Given the description of an element on the screen output the (x, y) to click on. 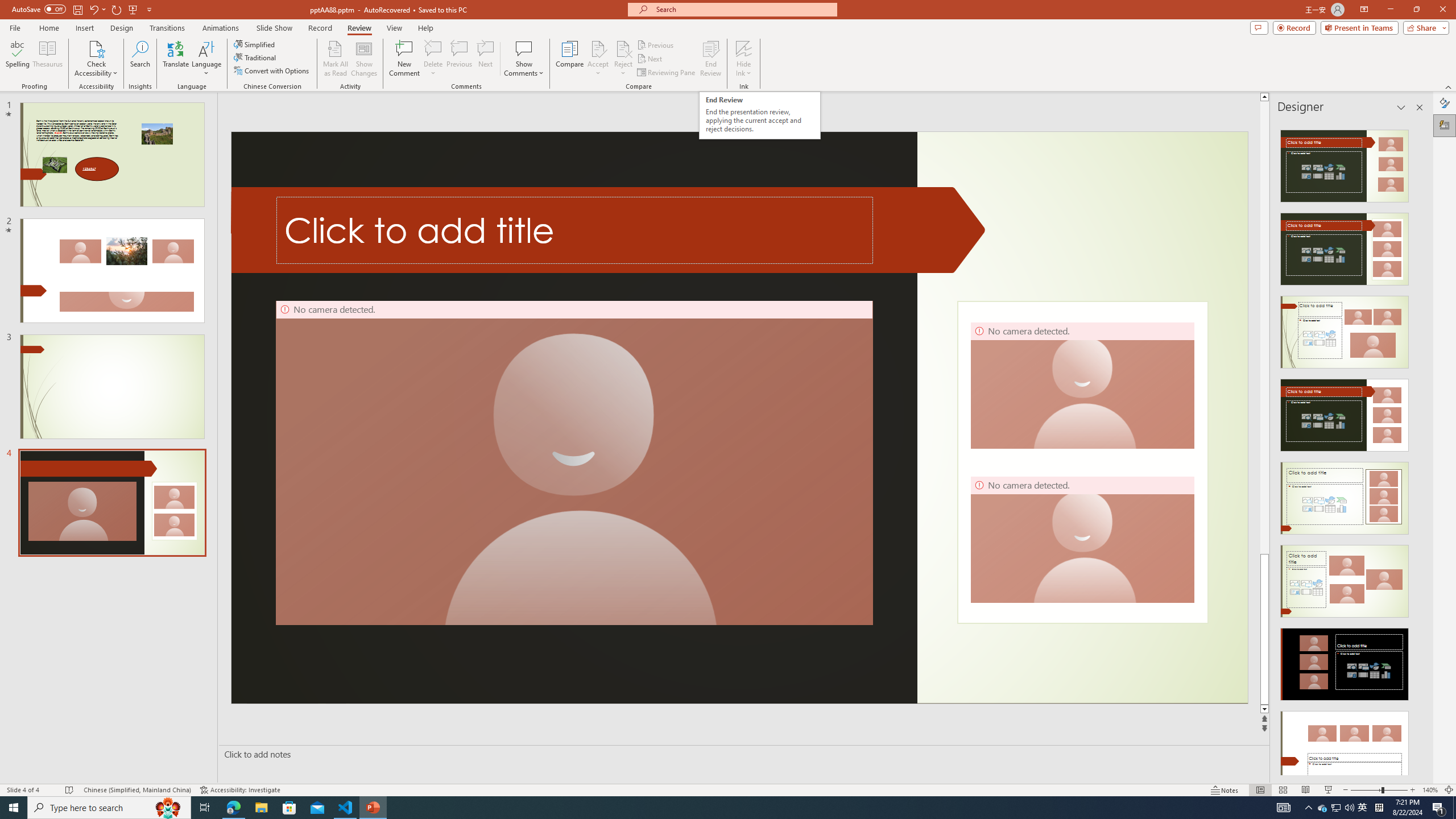
Reject (622, 58)
Language (206, 58)
Translate (175, 58)
Class: NetUIScrollBar (1418, 447)
Camera 4, No camera detected. (1082, 539)
Recommended Design: Design Idea (1344, 162)
